Given the description of an element on the screen output the (x, y) to click on. 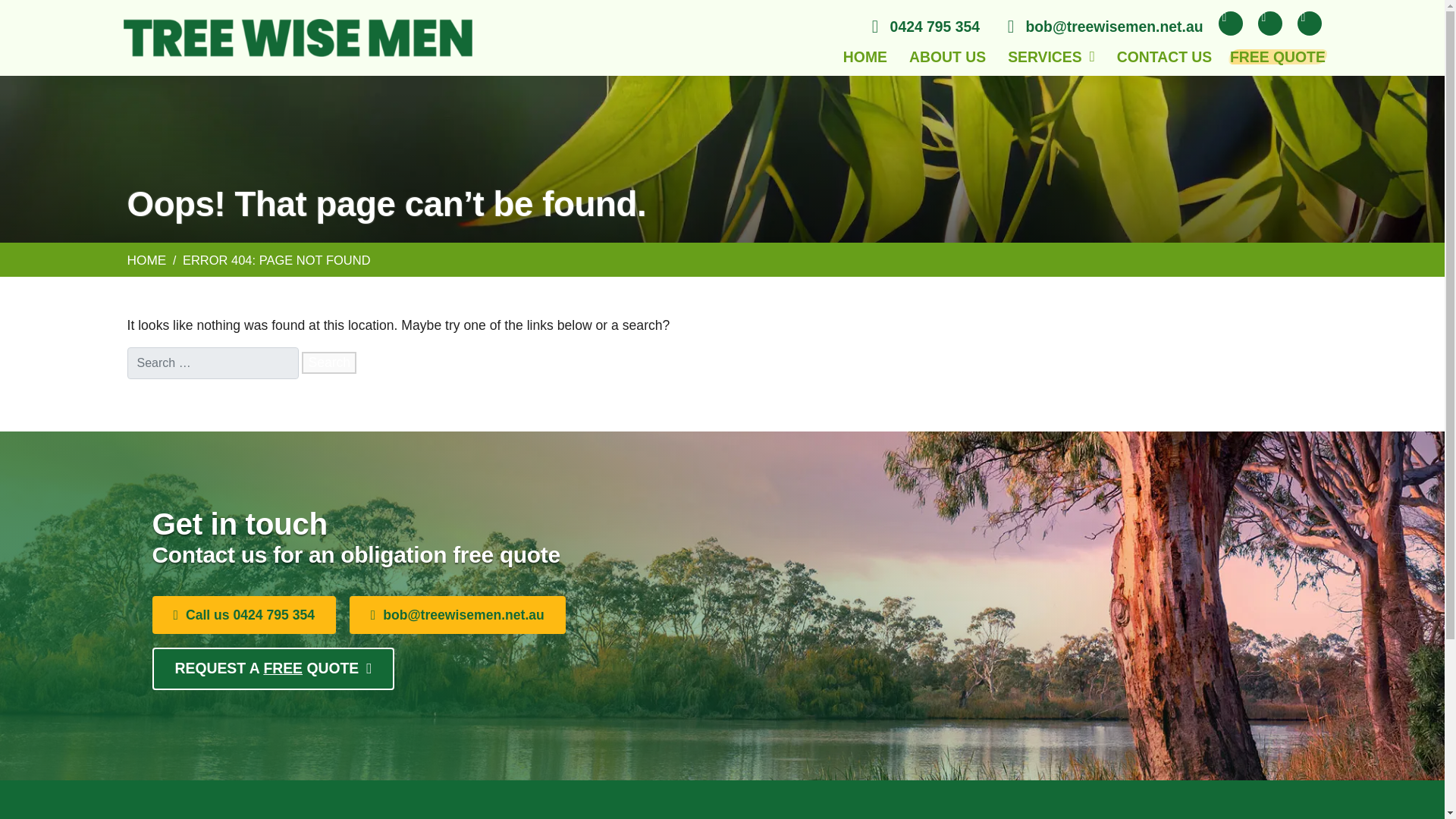
SERVICES (1050, 56)
FREE QUOTE (1276, 56)
CONTACT US (1163, 56)
0424 795 354 (921, 27)
HOME (864, 56)
Search (328, 362)
ABOUT US (946, 56)
Search (328, 362)
